Given the description of an element on the screen output the (x, y) to click on. 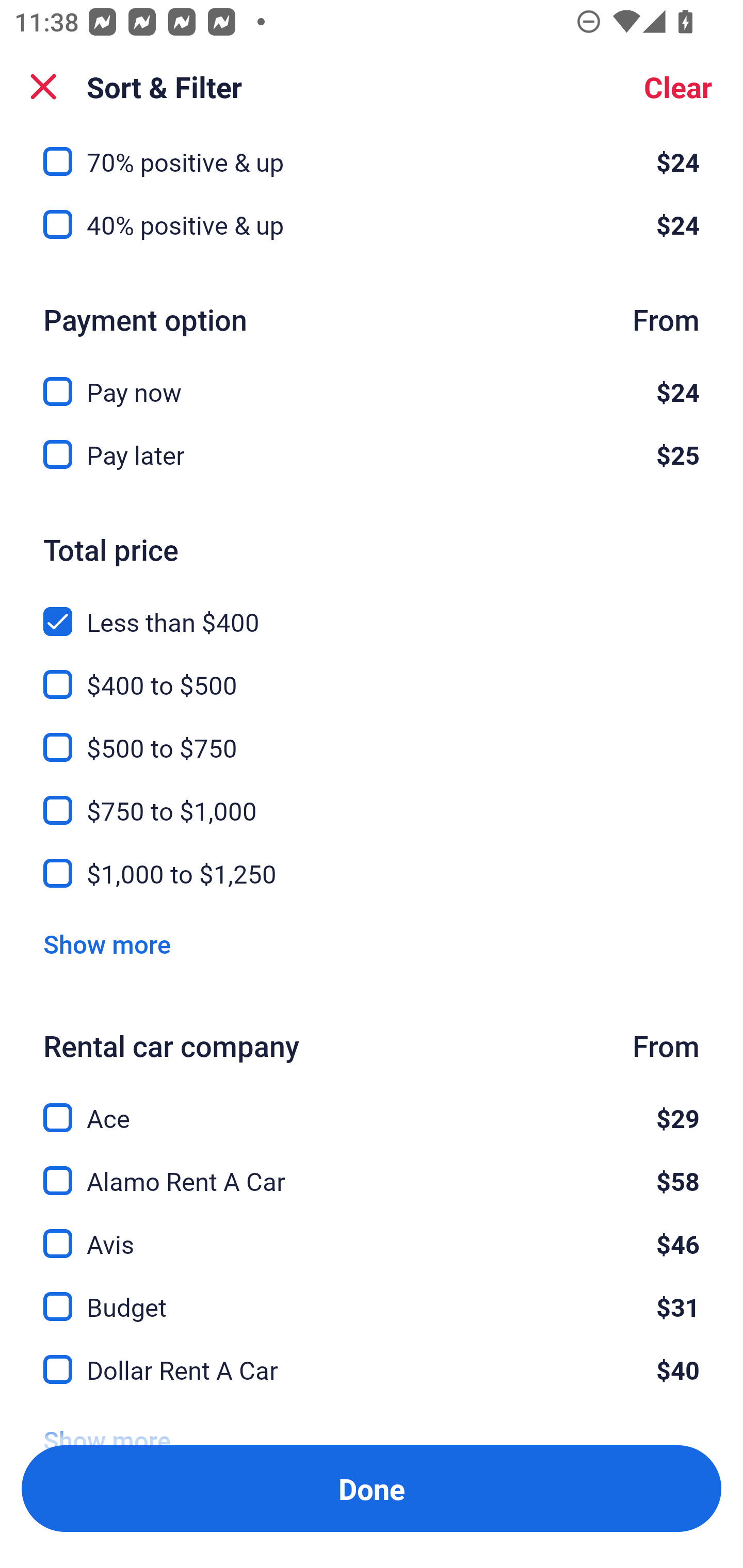
Close Sort and Filter (43, 86)
Clear (677, 86)
70% positive & up, $24 70% positive & up $24 (371, 155)
40% positive & up, $24 40% positive & up $24 (371, 224)
Pay now, $24 Pay now $24 (371, 379)
Pay later, $25 Pay later $25 (371, 454)
Less than $400, Less than $400 (371, 609)
$400 to $500, $400 to $500 (371, 672)
$500 to $750, $500 to $750 (371, 735)
$750 to $1,000, $750 to $1,000 (371, 798)
$1,000 to $1,250, $1,000 to $1,250 (371, 874)
Show more Show more Link (106, 943)
Ace, $29 Ace $29 (371, 1106)
Alamo Rent A Car, $58 Alamo Rent A Car $58 (371, 1169)
Avis, $46 Avis $46 (371, 1232)
Budget, $31 Budget $31 (371, 1294)
Dollar Rent A Car, $40 Dollar Rent A Car $40 (371, 1369)
Apply and close Sort and Filter Done (371, 1488)
